Given the description of an element on the screen output the (x, y) to click on. 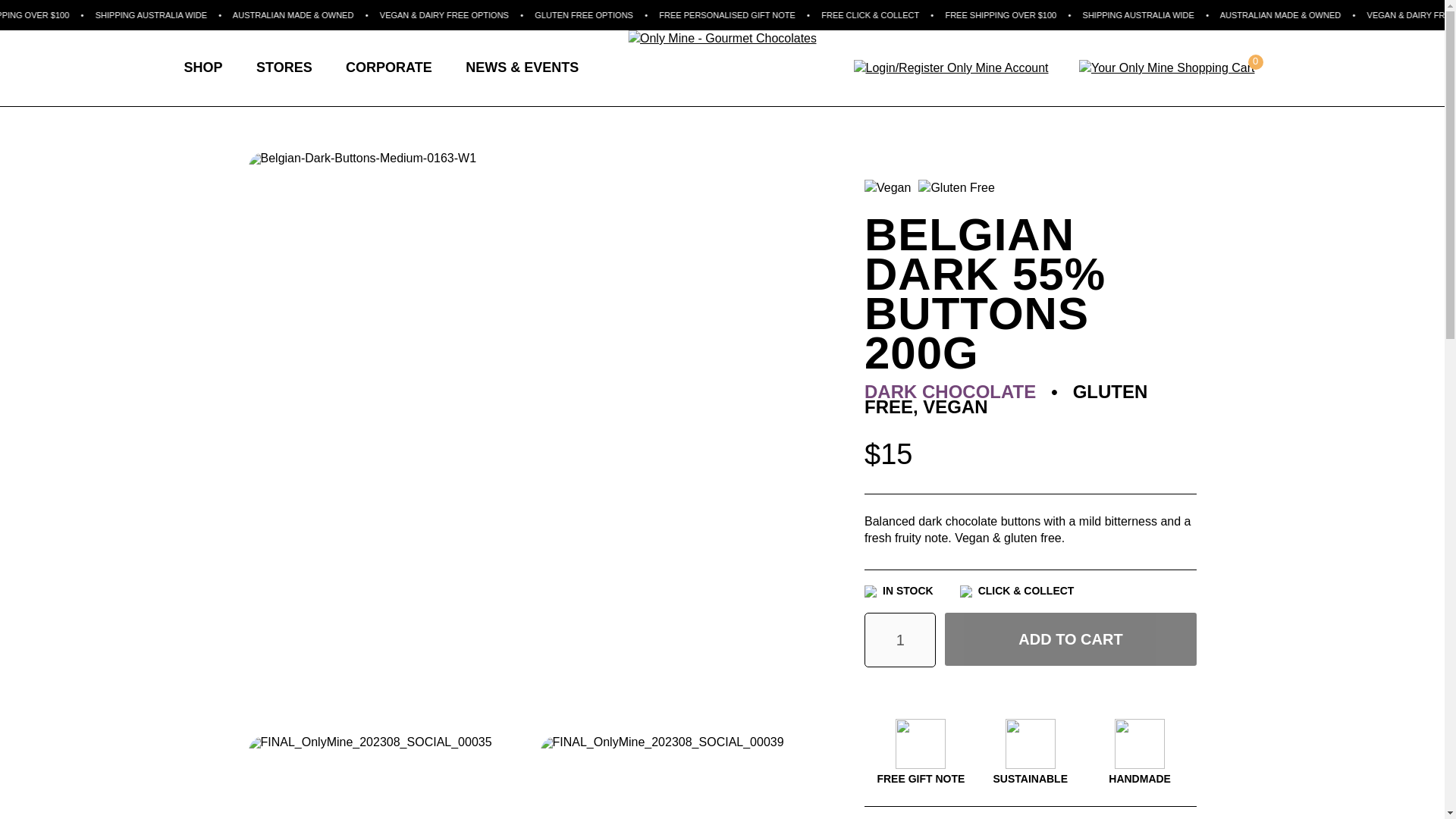
0 (1166, 67)
1 (900, 639)
STORES (284, 67)
SHOP (202, 67)
View your shopping cart (1166, 67)
Only Mine - Gourmet Chocolates (721, 38)
CORPORATE (388, 67)
